Given the description of an element on the screen output the (x, y) to click on. 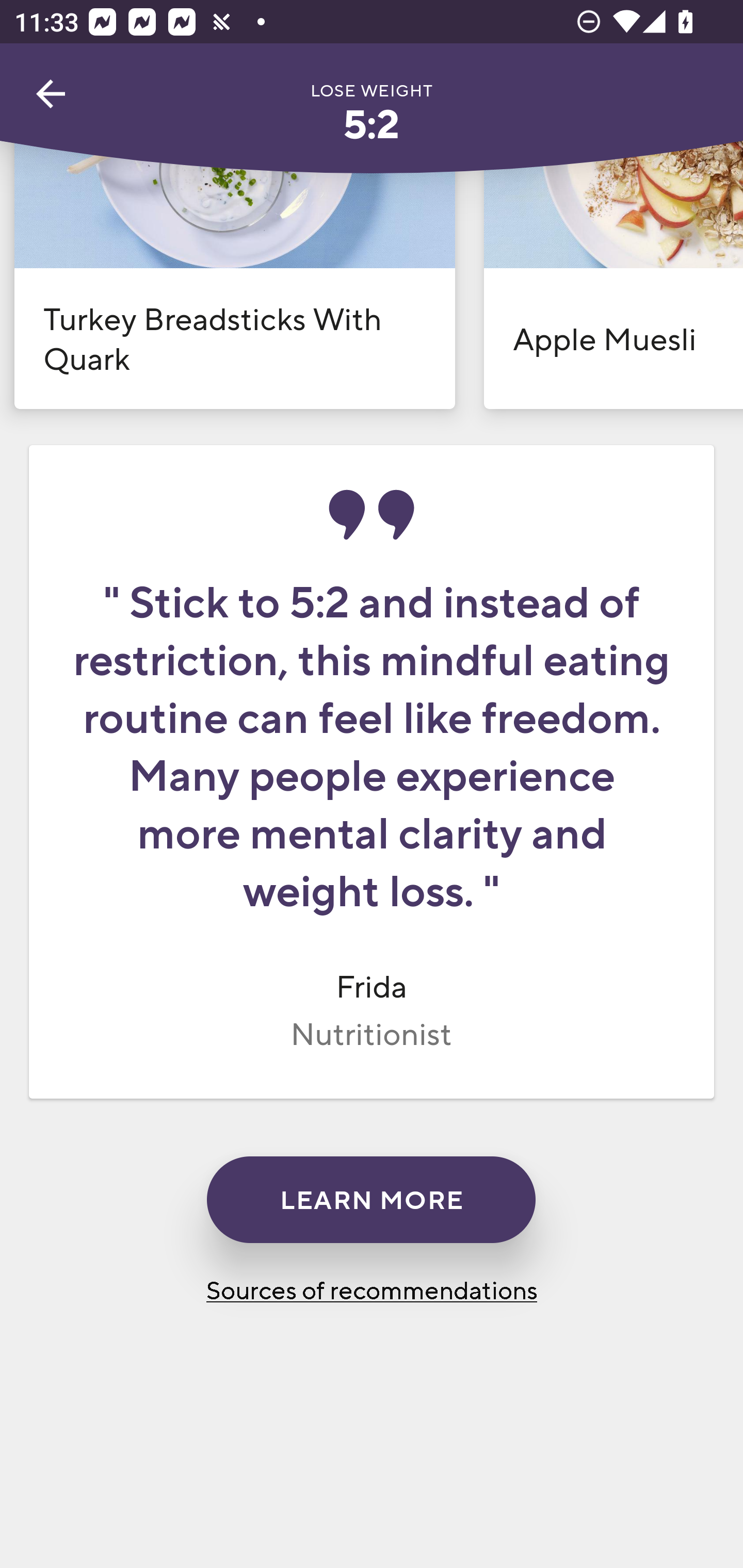
Navigate up (50, 93)
Turkey Breadsticks With Quark (234, 269)
Apple Muesli (613, 269)
LEARN MORE (370, 1200)
Sources of recommendations (371, 1289)
